Given the description of an element on the screen output the (x, y) to click on. 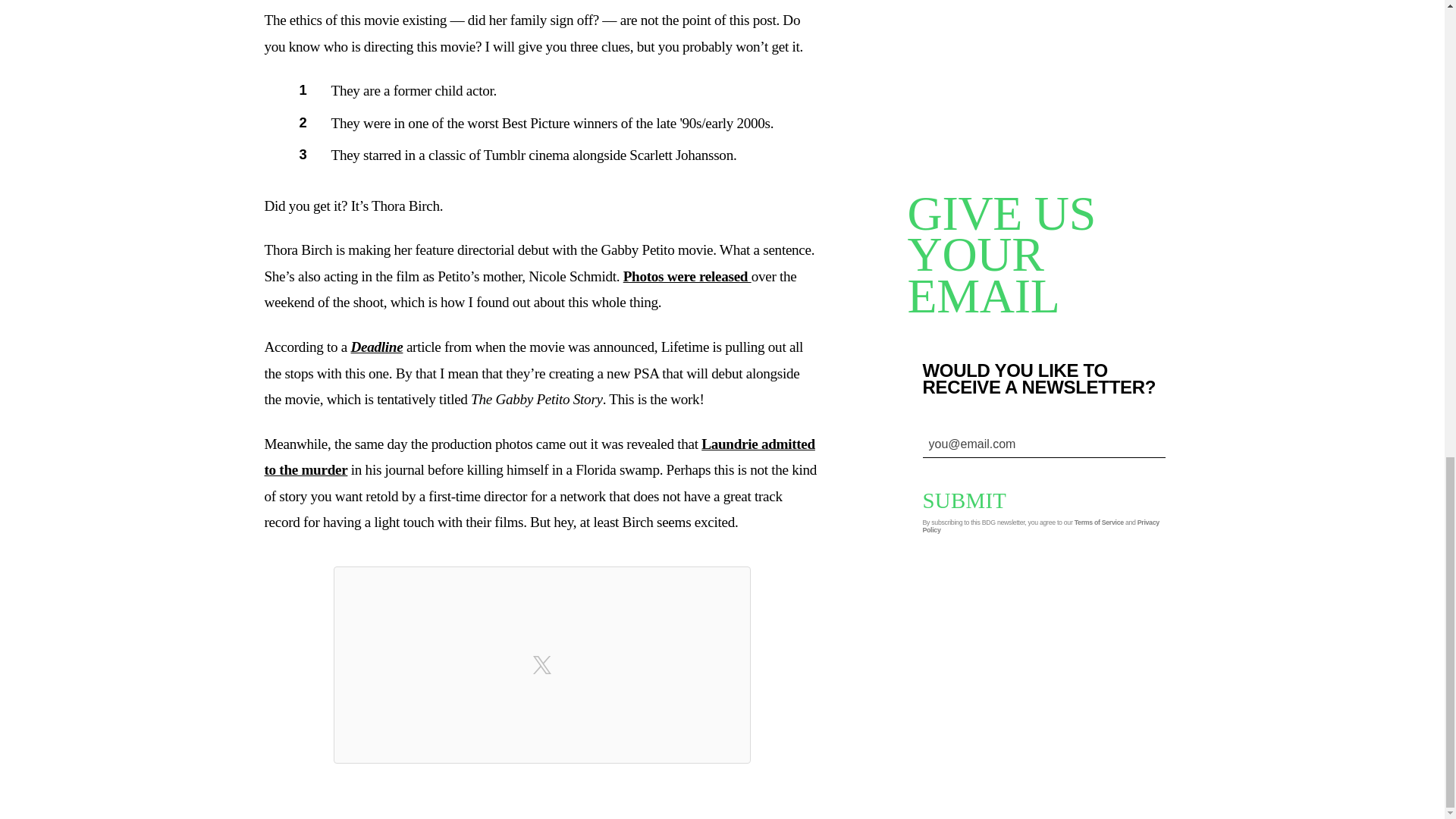
Privacy Policy (1039, 525)
Deadline (376, 346)
Terms of Service (1099, 522)
Laundrie admitted to the murder (538, 456)
SUBMIT (975, 500)
Photos were released (687, 276)
